Given the description of an element on the screen output the (x, y) to click on. 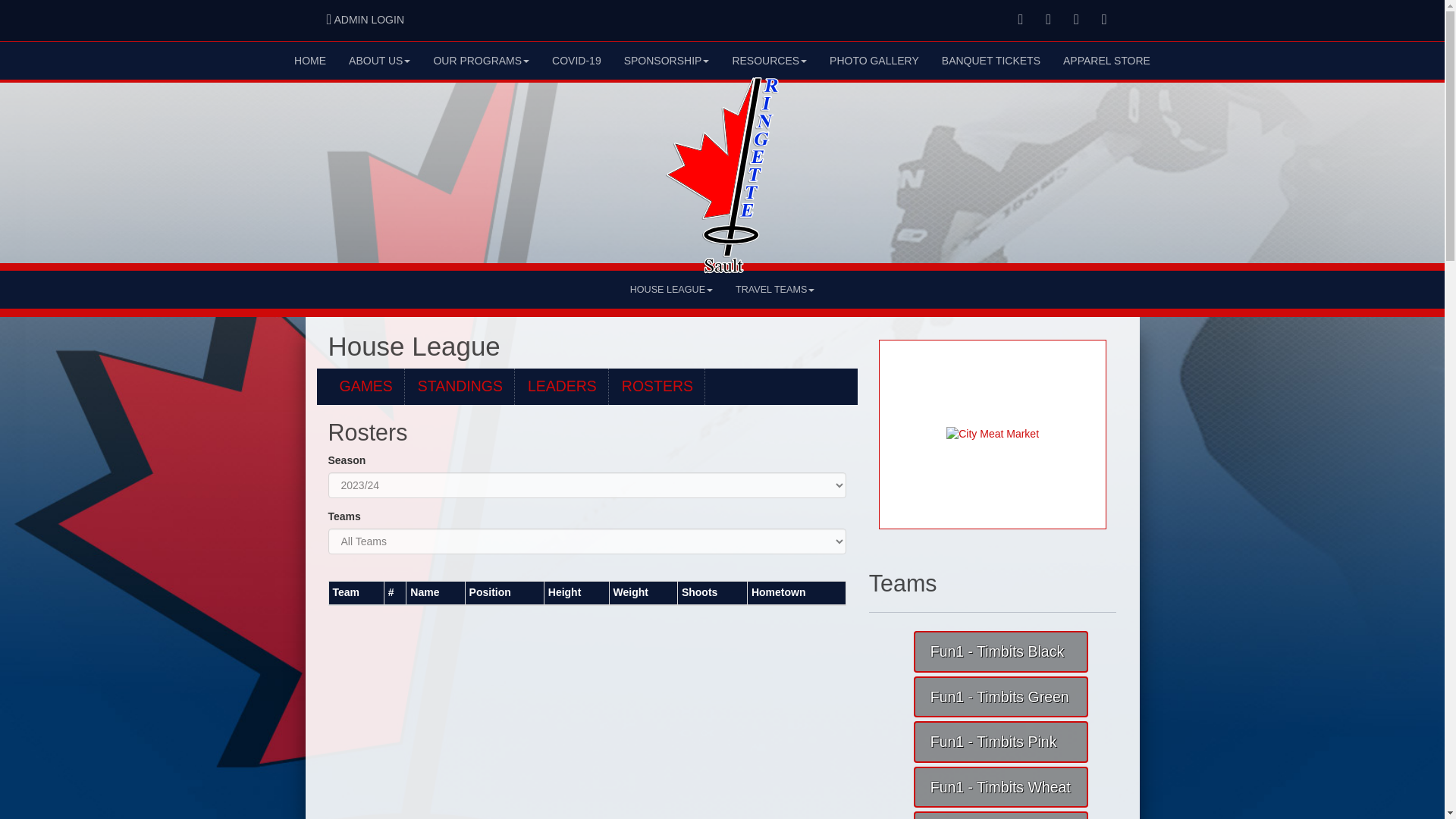
like us (1020, 19)
BANQUET TICKETS (990, 60)
instagram (1104, 19)
HOME (309, 60)
Twitter (1076, 20)
ABOUT US (379, 60)
SPONSORSHIP (666, 60)
Facebook (1021, 20)
follow us (1076, 19)
Login Page (328, 19)
PHOTO GALLERY (874, 60)
Youtube (1048, 20)
COVID-19 (576, 60)
OUR PROGRAMS (481, 60)
